Given the description of an element on the screen output the (x, y) to click on. 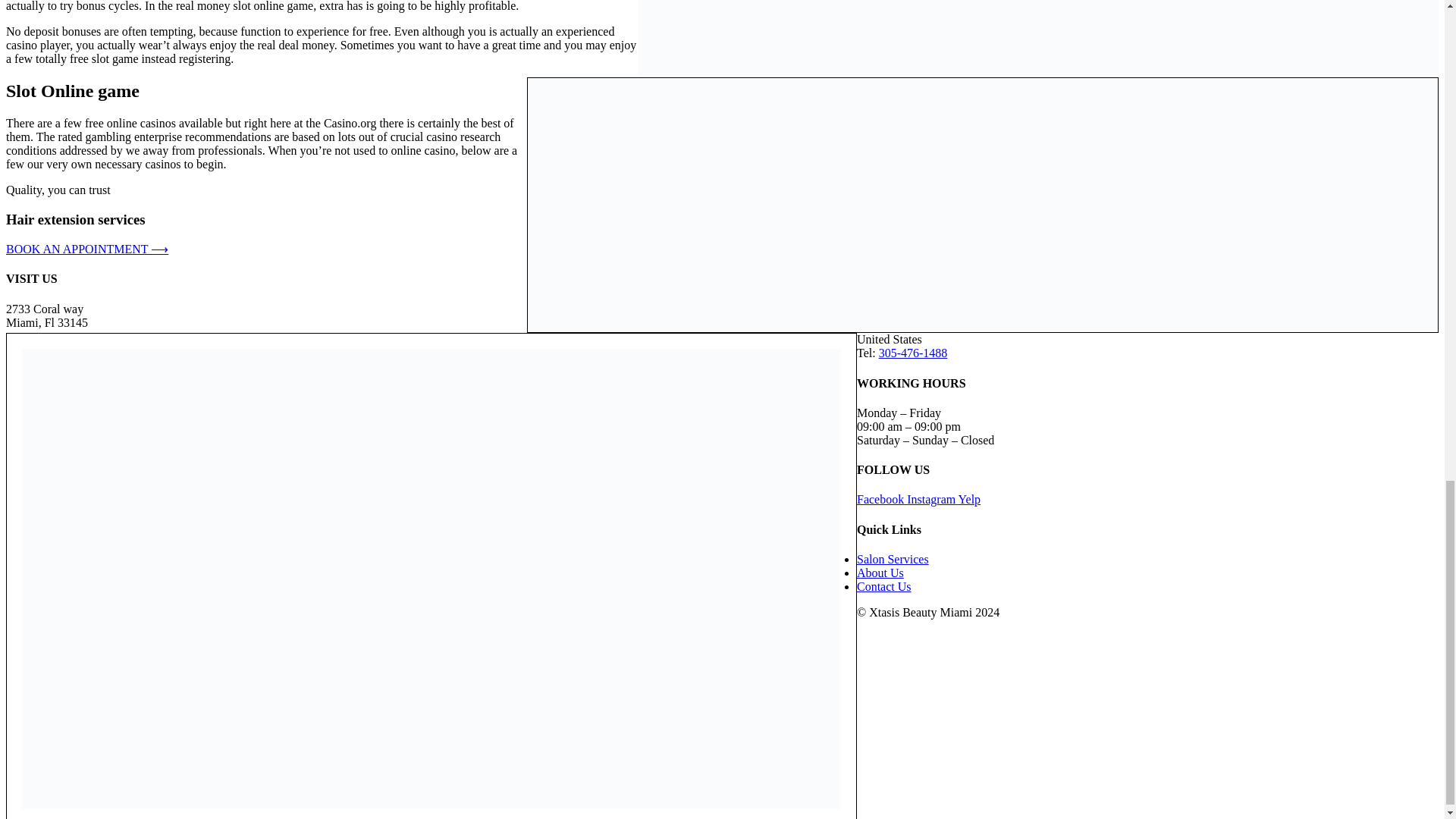
Contact Us (884, 585)
Salon Services (892, 558)
About Us (880, 572)
305-476-1488 (913, 352)
Facebook (882, 499)
Yelp (969, 499)
Instagram (932, 499)
